Given the description of an element on the screen output the (x, y) to click on. 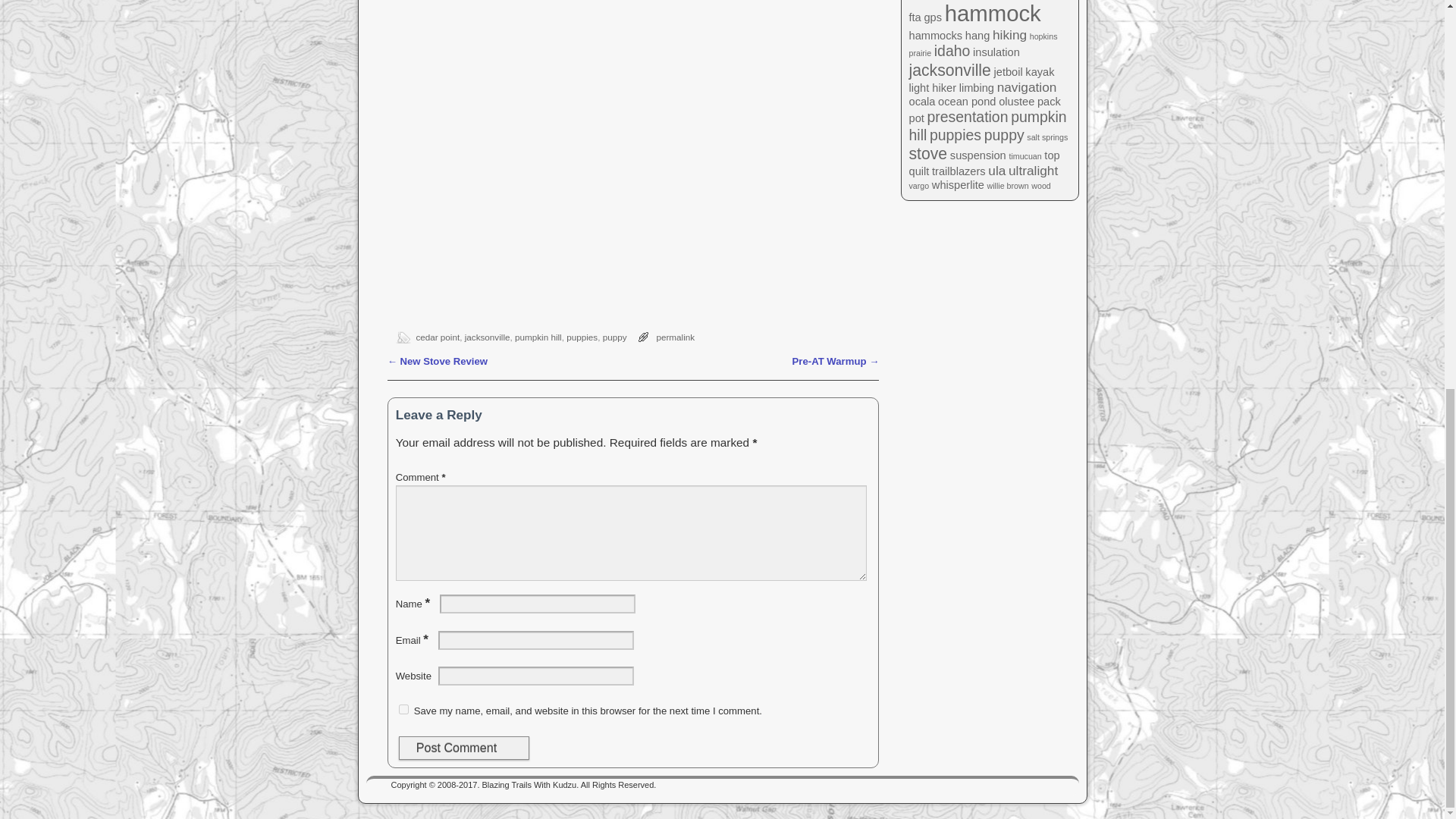
yes (403, 709)
Post Comment (463, 748)
